Given the description of an element on the screen output the (x, y) to click on. 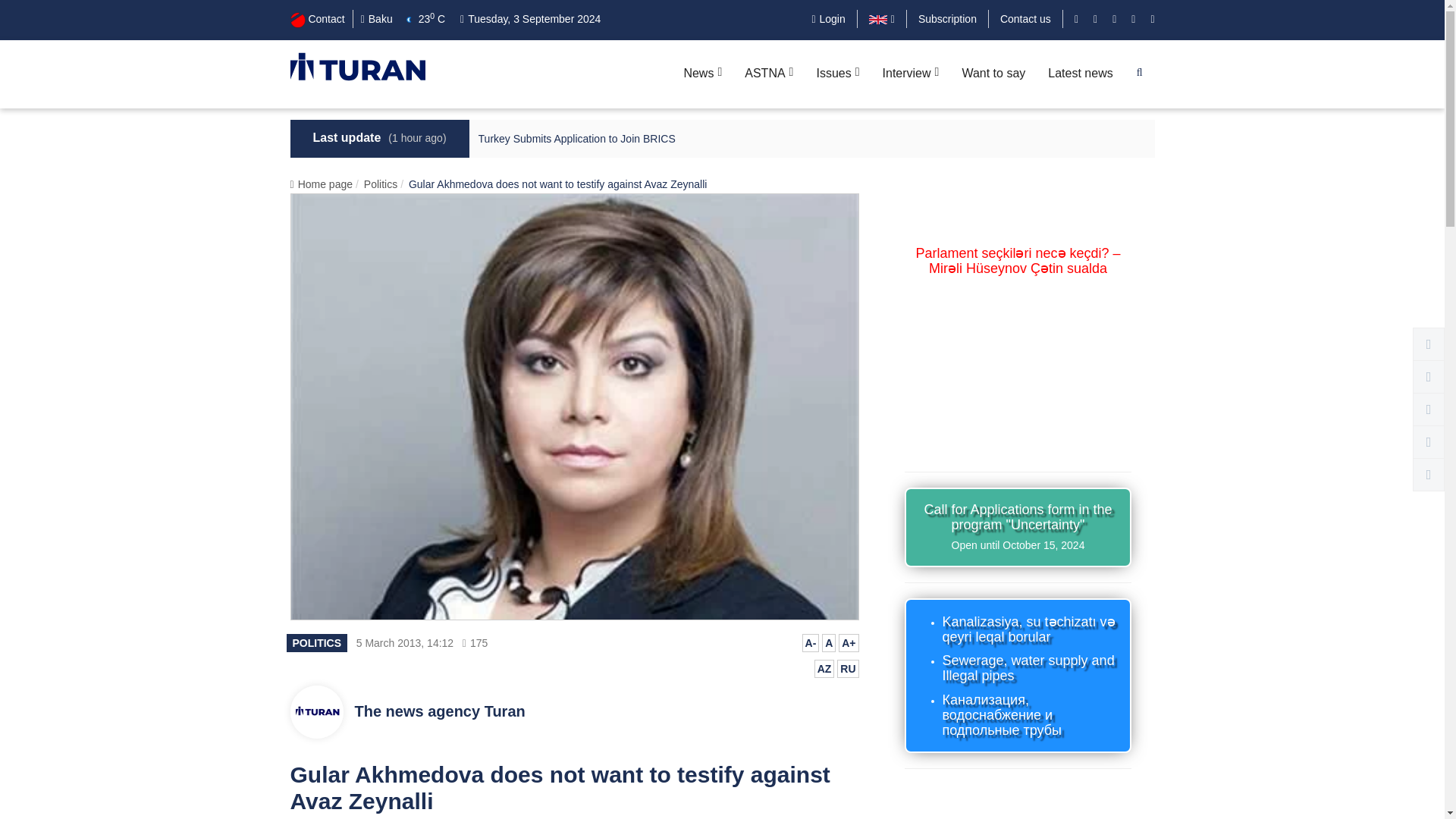
Subscription (947, 18)
News (702, 74)
YouTube video player (1017, 367)
Login (827, 18)
Contact (316, 18)
ASTNA (769, 74)
Contact us (1025, 18)
